Given the description of an element on the screen output the (x, y) to click on. 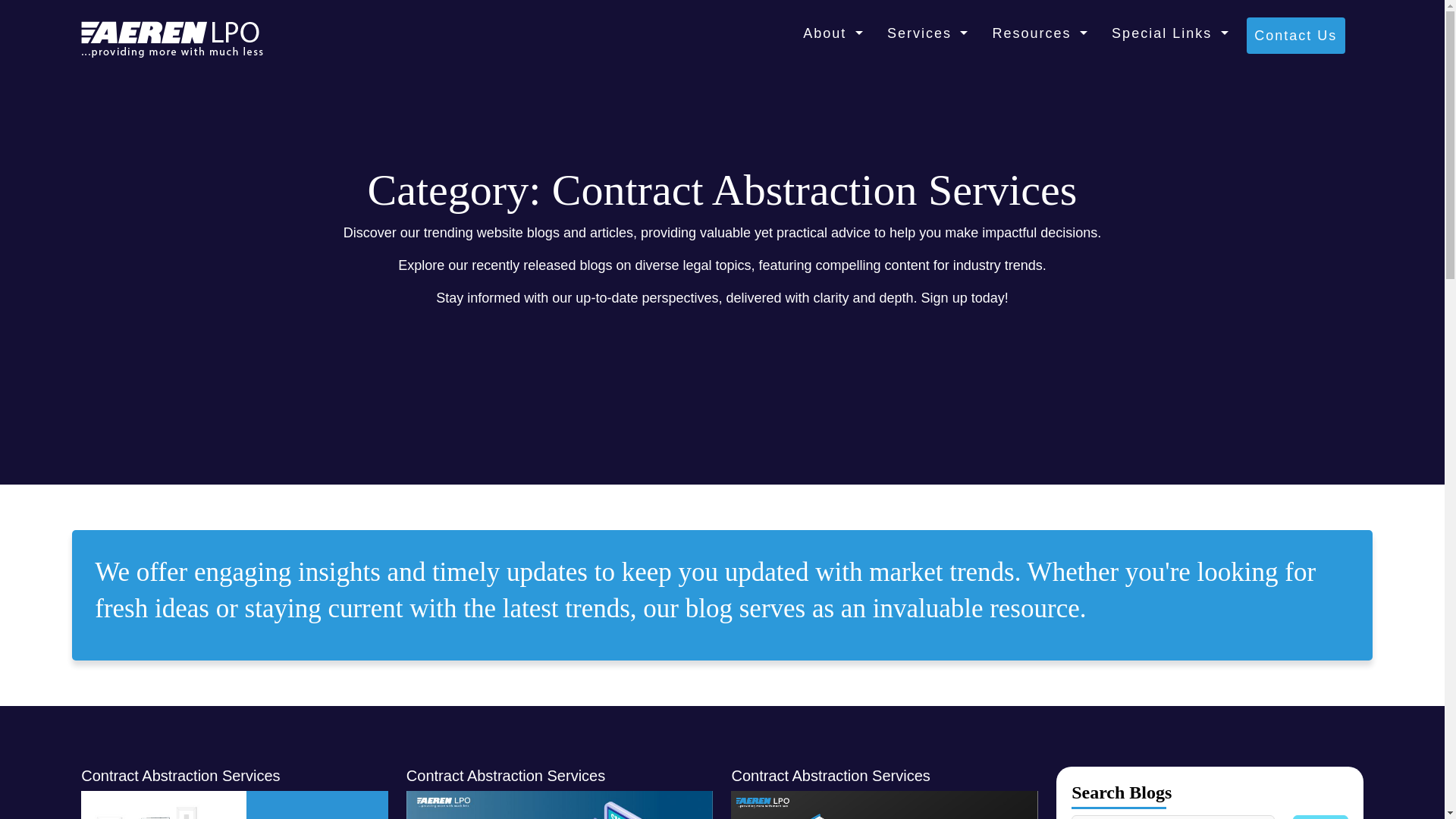
Resources (1039, 33)
Services (927, 33)
Special Links (1169, 33)
Search (1320, 816)
About (832, 33)
Search (1320, 816)
Contact Us (1295, 35)
